Given the description of an element on the screen output the (x, y) to click on. 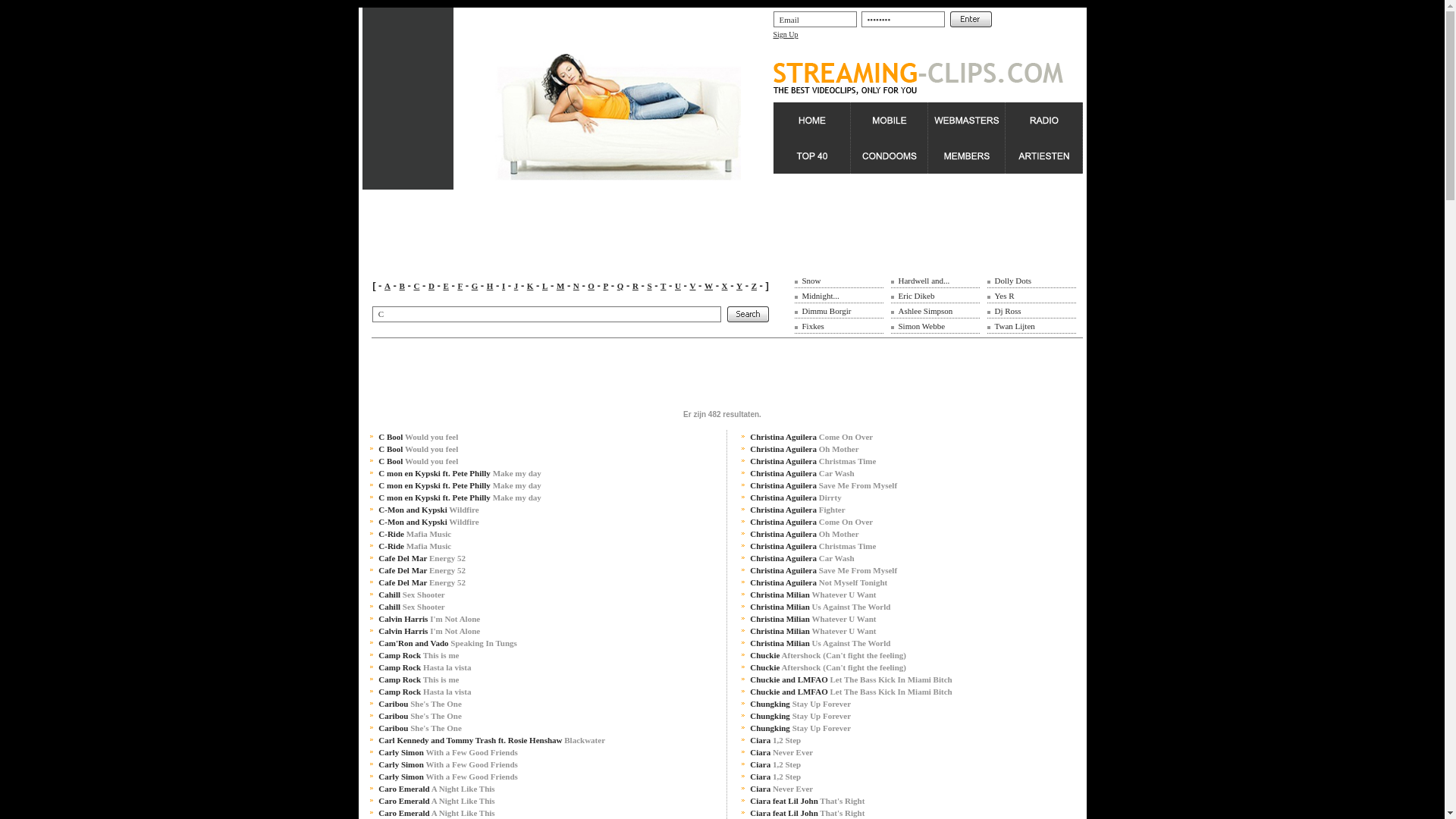
Christina Aguilera Come On Over Element type: text (810, 521)
U Element type: text (677, 285)
K Element type: text (530, 285)
Caribou She's The One Element type: text (419, 727)
Carly Simon With a Few Good Friends Element type: text (447, 776)
Ashlee Simpson Element type: text (924, 310)
Christina Aguilera Not Myself Tonight Element type: text (818, 581)
Z Element type: text (753, 285)
C Bool Would you feel Element type: text (418, 436)
Cam'Ron and Vado Speaking In Tungs Element type: text (447, 642)
Q Element type: text (620, 285)
M Element type: text (560, 285)
Eric Dikeb Element type: text (915, 295)
Chuckie Aftershock (Can't fight the feeling) Element type: text (827, 666)
C Element type: text (416, 285)
Yes R Element type: text (1004, 295)
Cafe Del Mar Energy 52 Element type: text (421, 581)
Chuckie Aftershock (Can't fight the feeling) Element type: text (827, 654)
Twan Lijten Element type: text (1014, 325)
Christina Aguilera Oh Mother Element type: text (803, 448)
Christina Milian Us Against The World Element type: text (819, 642)
Cafe Del Mar Energy 52 Element type: text (421, 569)
C Bool Would you feel Element type: text (418, 448)
F Element type: text (459, 285)
W Element type: text (708, 285)
Dimmu Borgir Element type: text (826, 310)
C-Mon and Kypski Wildfire Element type: text (428, 509)
Advertisement Element type: hover (407, 98)
Caribou She's The One Element type: text (419, 703)
Chungking Stay Up Forever Element type: text (799, 727)
Y Element type: text (739, 285)
Simon Webbe Element type: text (920, 325)
Christina Aguilera Fighter Element type: text (796, 509)
Sign Up Element type: text (785, 34)
I Element type: text (503, 285)
Carly Simon With a Few Good Friends Element type: text (447, 763)
Chungking Stay Up Forever Element type: text (799, 703)
R Element type: text (635, 285)
Christina Milian Whatever U Want Element type: text (812, 594)
Chuckie and LMFAO Let The Bass Kick In Miami Bitch Element type: text (850, 679)
E Element type: text (445, 285)
B Element type: text (401, 285)
V Element type: text (693, 285)
Ciara 1,2 Step Element type: text (774, 776)
Christina Aguilera Car Wash Element type: text (801, 557)
L Element type: text (544, 285)
G Element type: text (474, 285)
O Element type: text (590, 285)
D Element type: text (431, 285)
Caro Emerald A Night Like This Element type: text (436, 800)
Christina Aguilera Come On Over Element type: text (810, 436)
Ciara 1,2 Step Element type: text (774, 739)
Advertisement Element type: hover (638, 372)
Ciara Never Ever Element type: text (780, 751)
A Element type: text (387, 285)
C mon en Kypski ft. Pete Philly Make my day Element type: text (459, 497)
Dj Ross Element type: text (1007, 310)
Calvin Harris I'm Not Alone Element type: text (429, 618)
Camp Rock This is me Element type: text (418, 654)
Camp Rock Hasta la vista Element type: text (424, 691)
Snow Element type: text (811, 280)
C-Ride Mafia Music Element type: text (414, 545)
Christina Aguilera Save Me From Myself Element type: text (823, 484)
Hardwell and... Element type: text (923, 280)
Dolly Dots Element type: text (1013, 280)
Carly Simon With a Few Good Friends Element type: text (447, 751)
Cafe Del Mar Energy 52 Element type: text (421, 557)
Christina Aguilera Dirrty Element type: text (794, 497)
Carl Kennedy and Tommy Trash ft. Rosie Henshaw Blackwater Element type: text (491, 739)
T Element type: text (662, 285)
C-Mon and Kypski Wildfire Element type: text (428, 521)
Caribou She's The One Element type: text (419, 715)
Caro Emerald A Night Like This Element type: text (436, 788)
Christina Milian Whatever U Want Element type: text (812, 630)
S Element type: text (648, 285)
Christina Aguilera Save Me From Myself Element type: text (823, 569)
Ciara feat Lil John That's Right Element type: text (806, 800)
Chuckie and LMFAO Let The Bass Kick In Miami Bitch Element type: text (850, 691)
Camp Rock Hasta la vista Element type: text (424, 666)
C Bool Would you feel Element type: text (418, 460)
Christina Milian Whatever U Want Element type: text (812, 618)
Calvin Harris I'm Not Alone Element type: text (429, 630)
H Element type: text (489, 285)
J Element type: text (516, 285)
Fixkes Element type: text (813, 325)
Chungking Stay Up Forever Element type: text (799, 715)
X Element type: text (724, 285)
P Element type: text (605, 285)
Ciara feat Lil John That's Right Element type: text (806, 812)
Caro Emerald A Night Like This Element type: text (436, 812)
Christina Aguilera Oh Mother Element type: text (803, 533)
Christina Aguilera Christmas Time Element type: text (812, 460)
Camp Rock This is me Element type: text (418, 679)
C-Ride Mafia Music Element type: text (414, 533)
Cahill Sex Shooter Element type: text (411, 594)
Ciara 1,2 Step Element type: text (774, 763)
Christina Aguilera Christmas Time Element type: text (812, 545)
Christina Milian Us Against The World Element type: text (819, 606)
Cahill Sex Shooter Element type: text (411, 606)
Midnight... Element type: text (820, 295)
N Element type: text (576, 285)
Ciara Never Ever Element type: text (780, 788)
Advertisement Element type: hover (721, 223)
C mon en Kypski ft. Pete Philly Make my day Element type: text (459, 472)
Christina Aguilera Car Wash Element type: text (801, 472)
C mon en Kypski ft. Pete Philly Make my day Element type: text (459, 484)
